Given the description of an element on the screen output the (x, y) to click on. 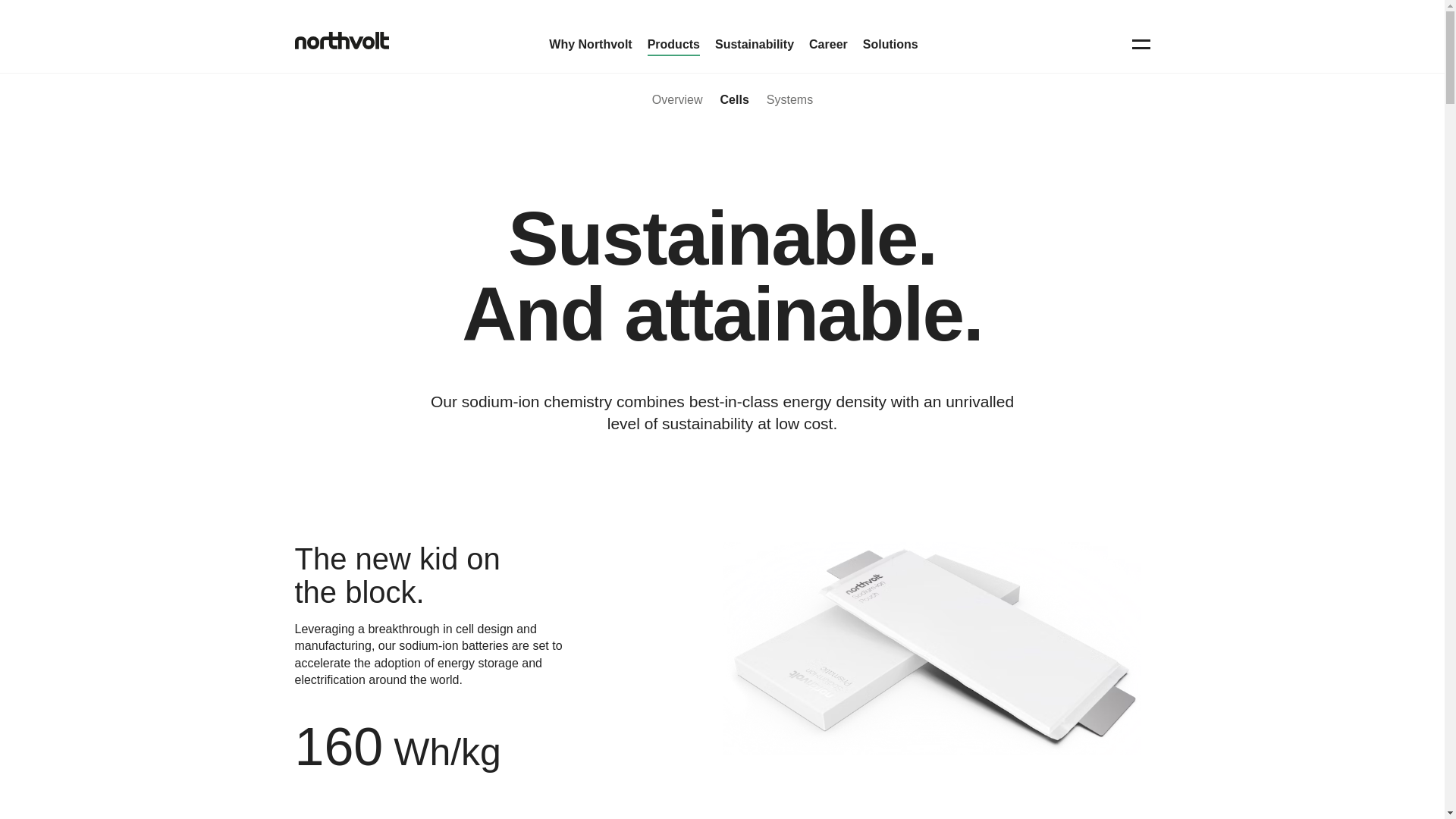
Overview (677, 90)
Systems (789, 90)
Toggle menu (1140, 45)
Northvolt (341, 41)
Sustainability (753, 44)
Solutions (890, 44)
Products (673, 44)
Career (828, 44)
Why Northvolt (589, 44)
